Given the description of an element on the screen output the (x, y) to click on. 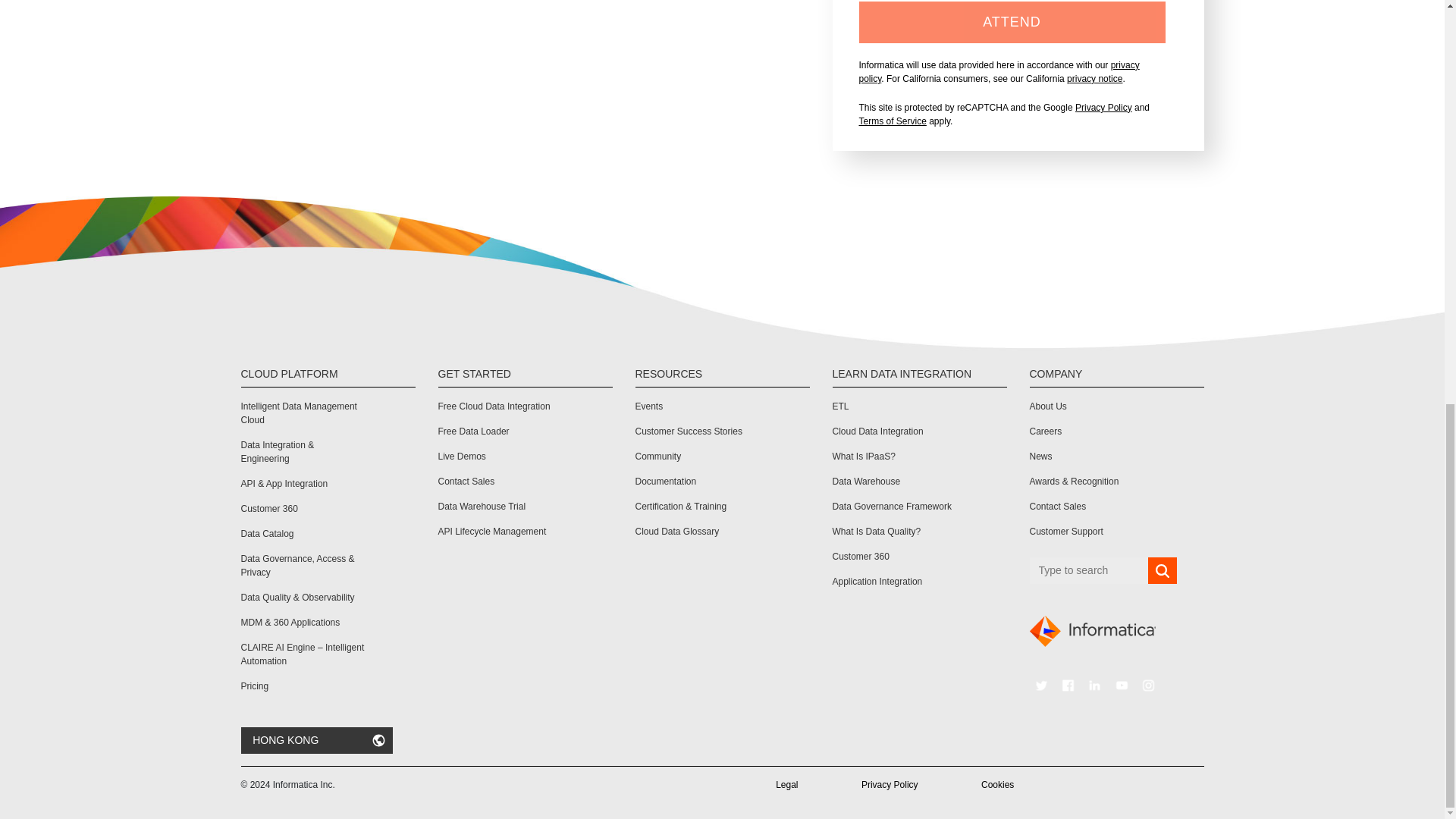
Terms of Service (892, 121)
Search (1162, 571)
privacy policy (998, 71)
Insert a query. Press enter to send (1088, 570)
privacy notice (1094, 78)
ATTEND (1011, 22)
Privacy Policy (1103, 107)
